Given the description of an element on the screen output the (x, y) to click on. 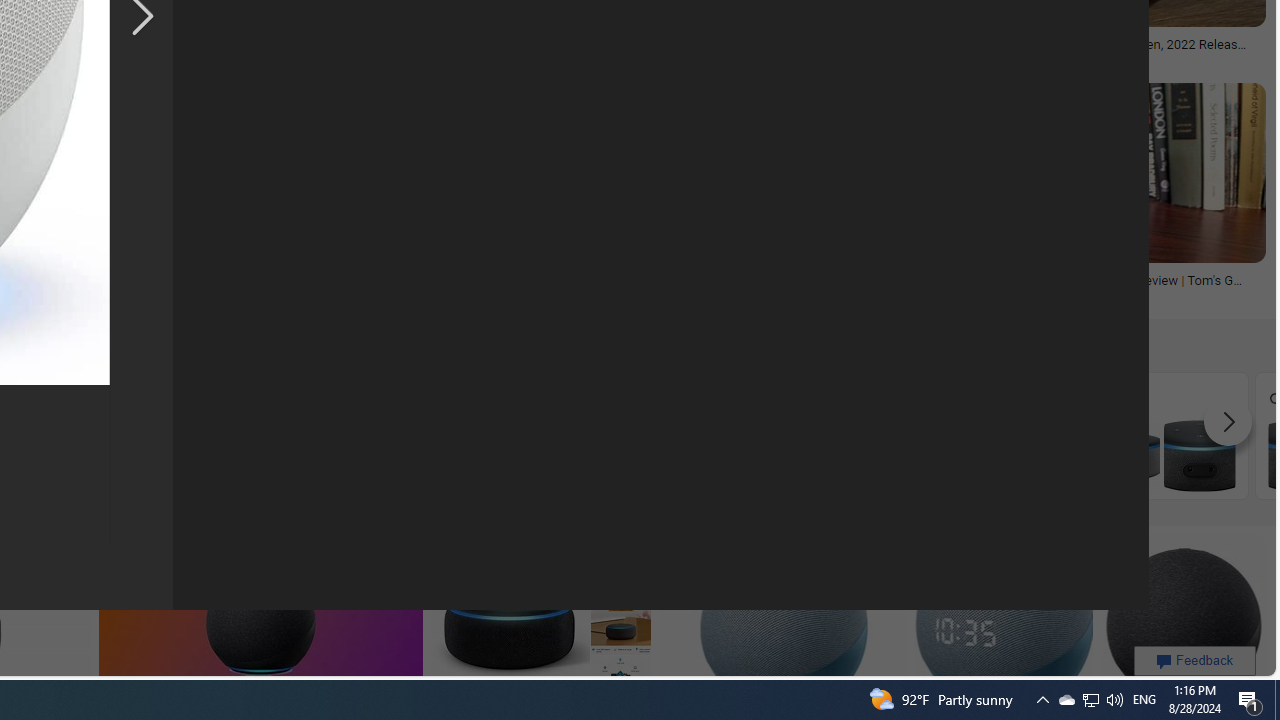
edysdeals.com (470, 57)
laptrinhx.com (840, 58)
mobi-me.net (607, 294)
au.pcmag.com (1047, 57)
Amazon Echo Dot Icon (262, 455)
Amazon Echo Dot 1 Generation 1 Generation (801, 435)
Icon (262, 435)
Image result for Newest Amazon Echo Dot (1182, 623)
ltonlinestore.com (847, 294)
1 Generation (801, 435)
Scroll more suggestions right (1227, 421)
